Given the description of an element on the screen output the (x, y) to click on. 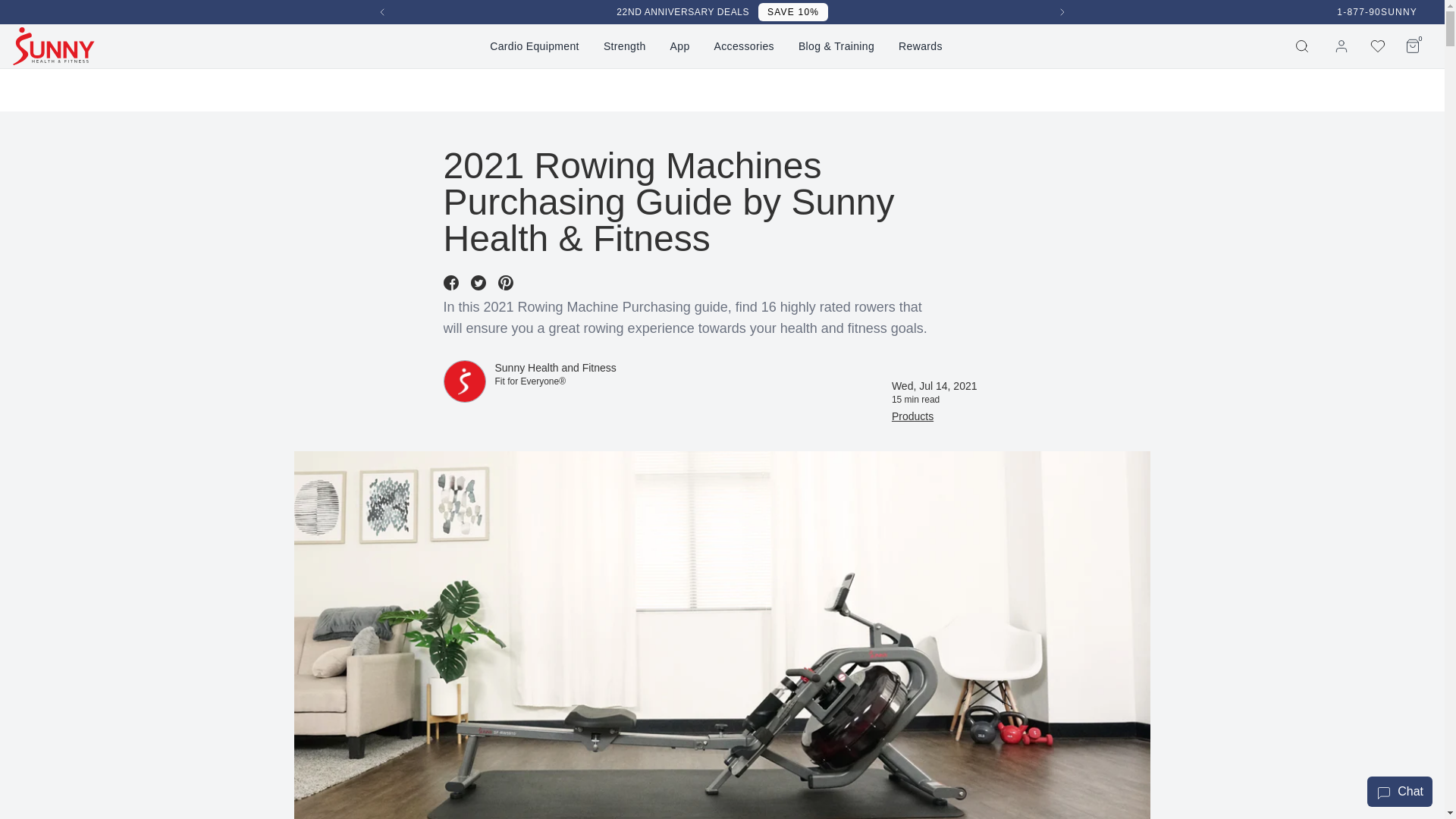
Cardio Equipment (1061, 12)
Search Icon (534, 45)
Sunny Health and Fitness (381, 12)
